Given the description of an element on the screen output the (x, y) to click on. 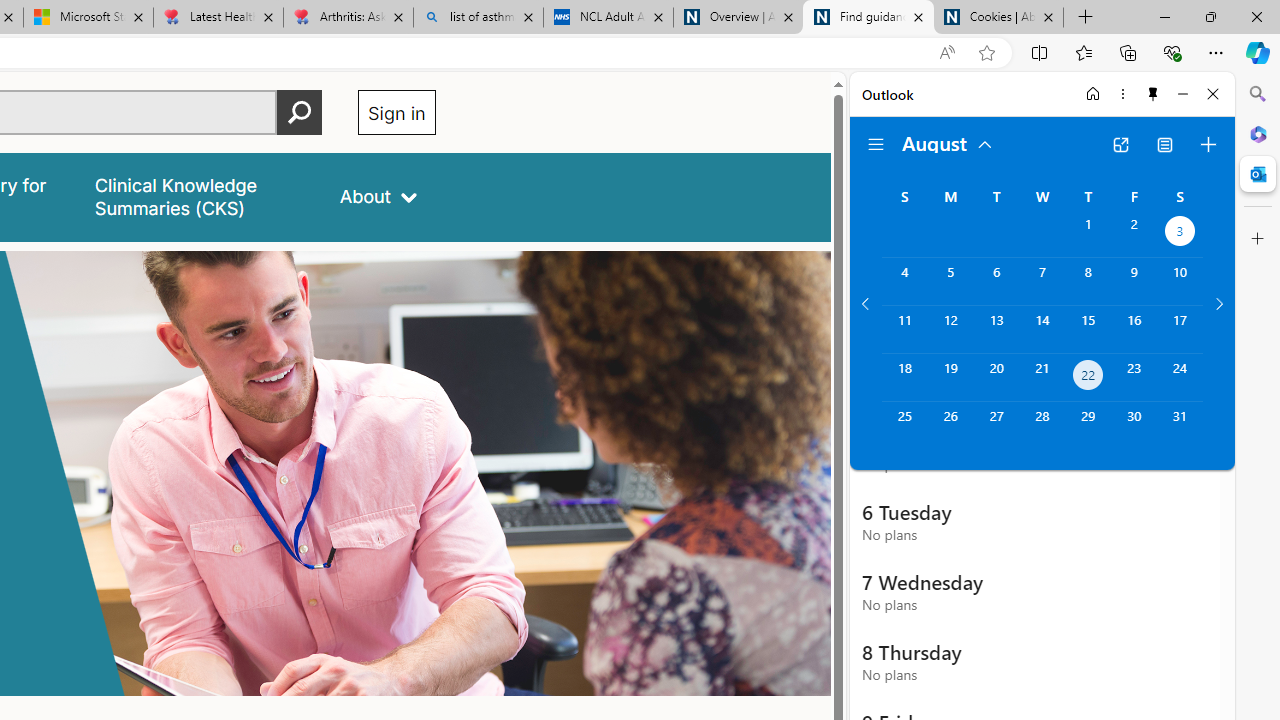
Friday, August 2, 2024.  (1134, 233)
Tuesday, August 20, 2024.  (996, 377)
Saturday, August 24, 2024.  (1180, 377)
false (198, 196)
Arthritis: Ask Health Professionals (348, 17)
Wednesday, August 14, 2024.  (1042, 329)
Wednesday, August 21, 2024.  (1042, 377)
Friday, August 23, 2024.  (1134, 377)
